Given the description of an element on the screen output the (x, y) to click on. 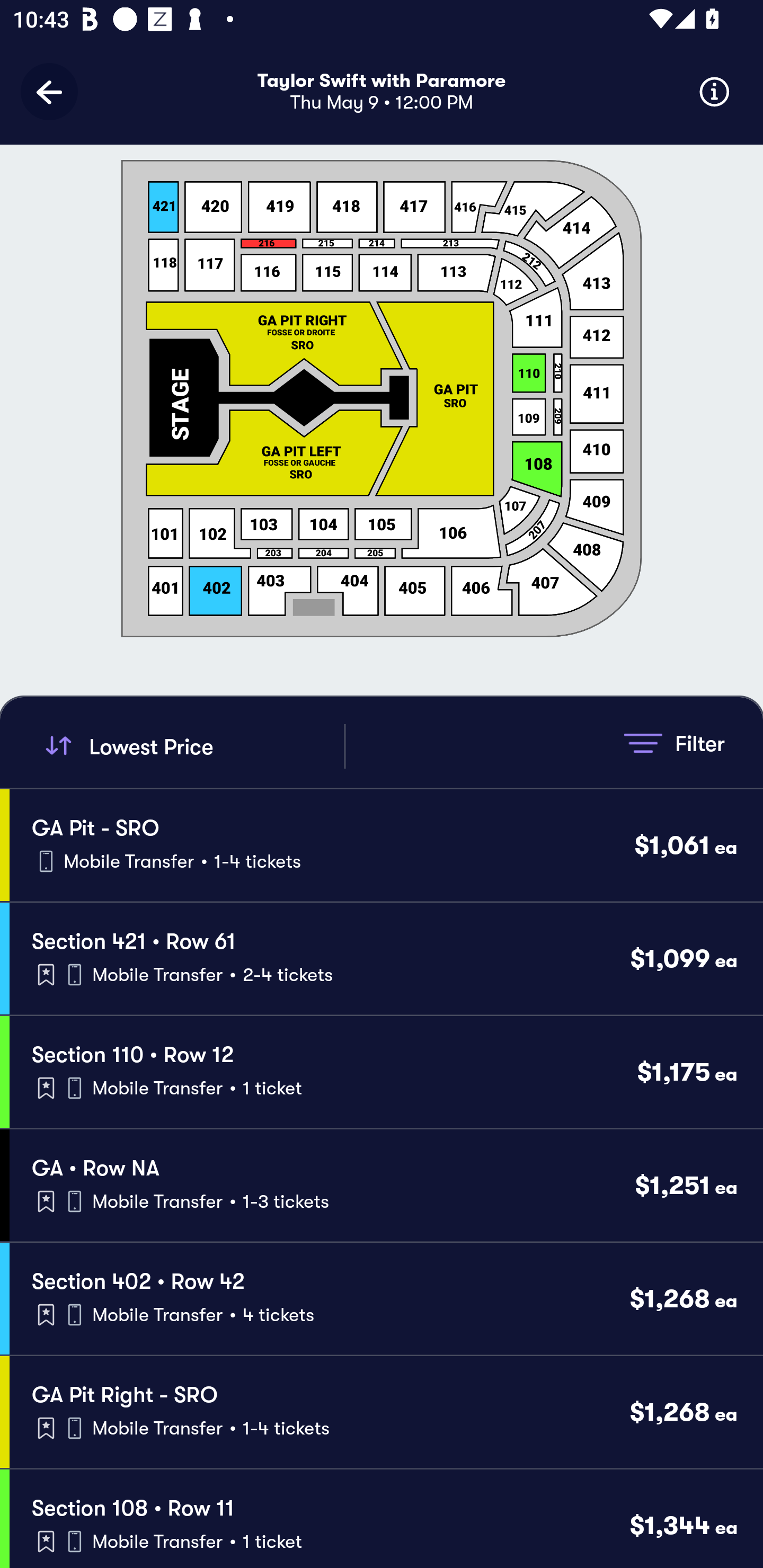
Lowest Price (191, 746)
Filter (674, 743)
